Given the description of an element on the screen output the (x, y) to click on. 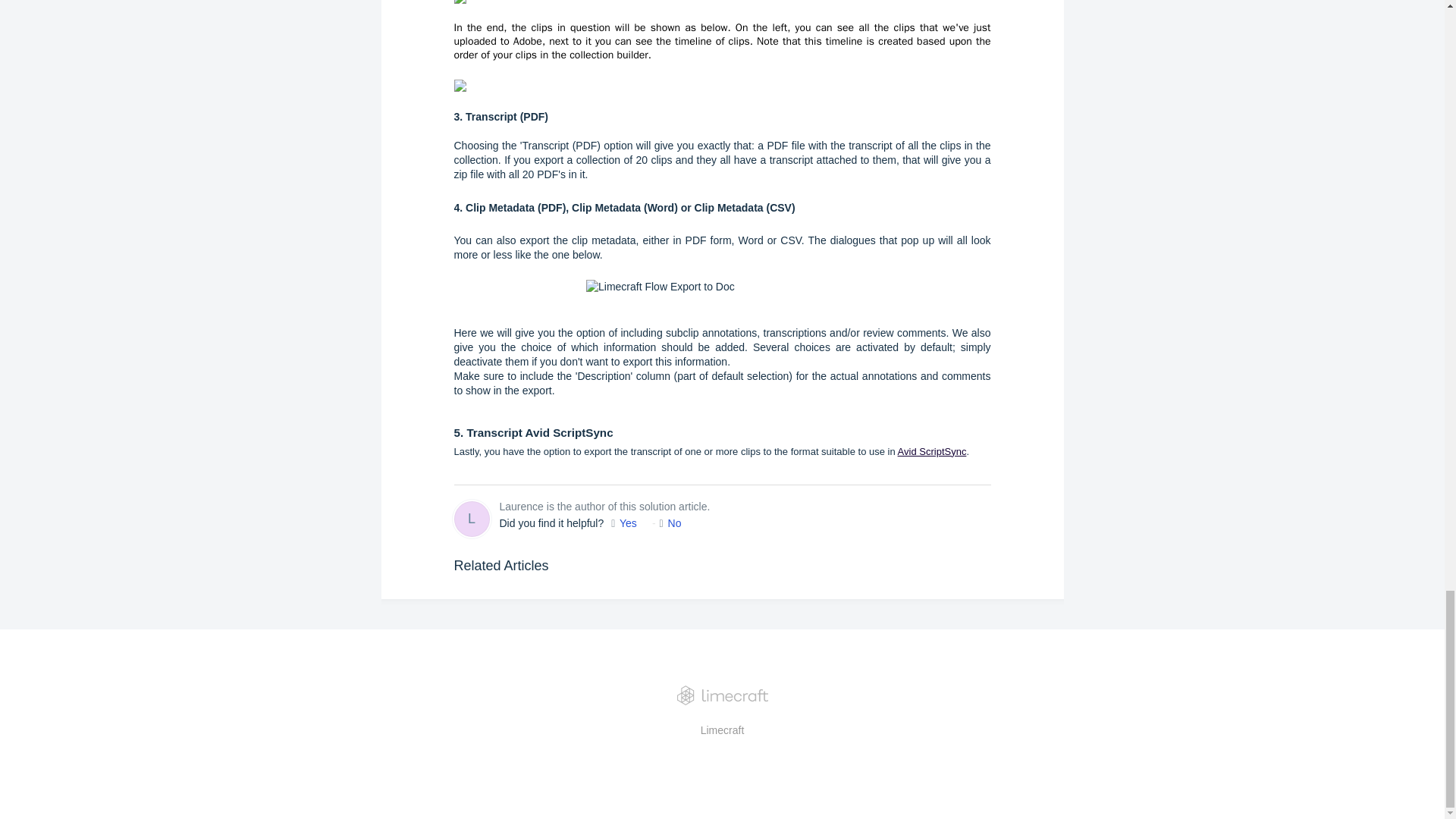
Limecraft (722, 729)
Avid ScriptSync (932, 451)
